Given the description of an element on the screen output the (x, y) to click on. 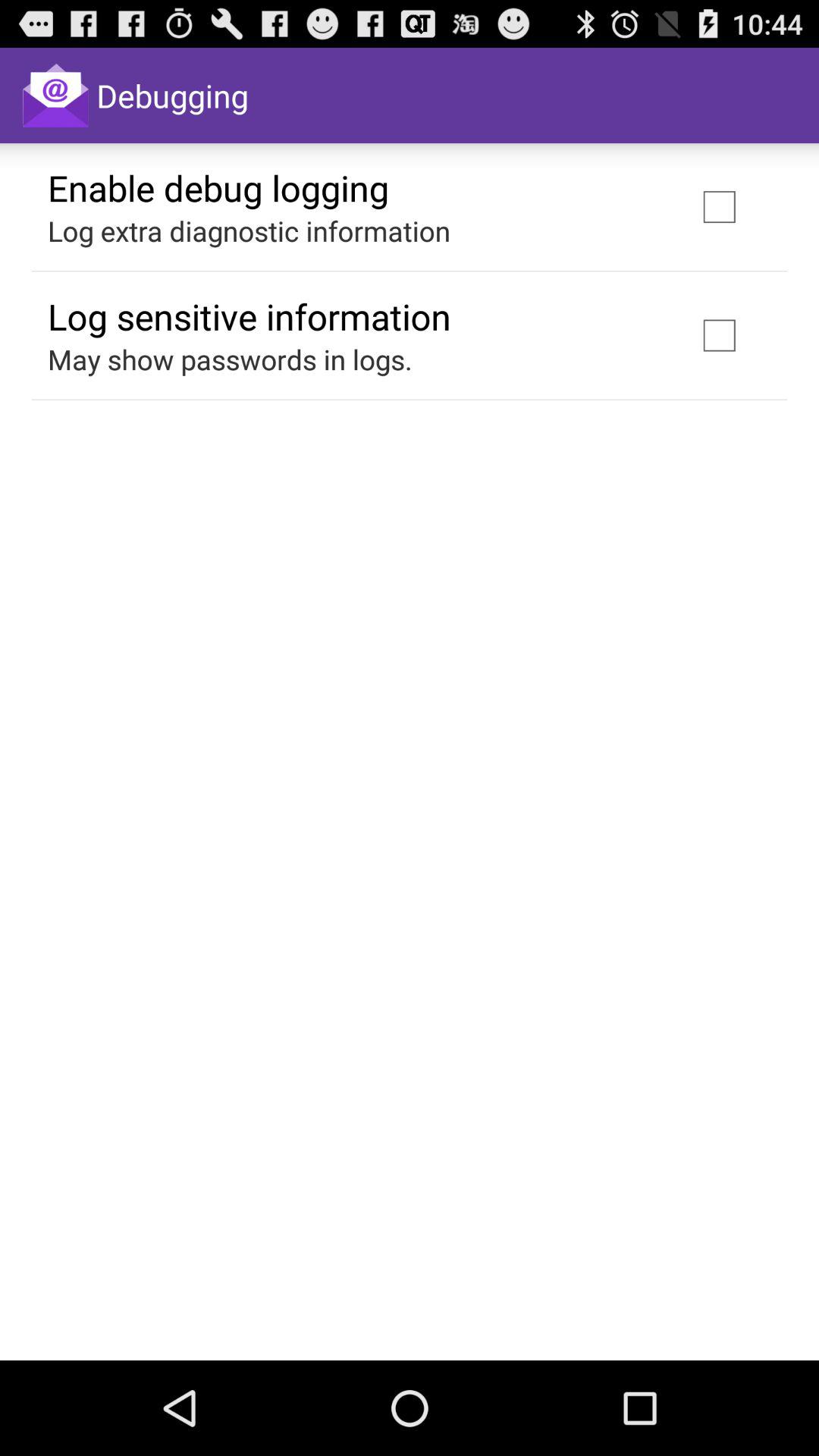
scroll until the enable debug logging app (218, 187)
